Given the description of an element on the screen output the (x, y) to click on. 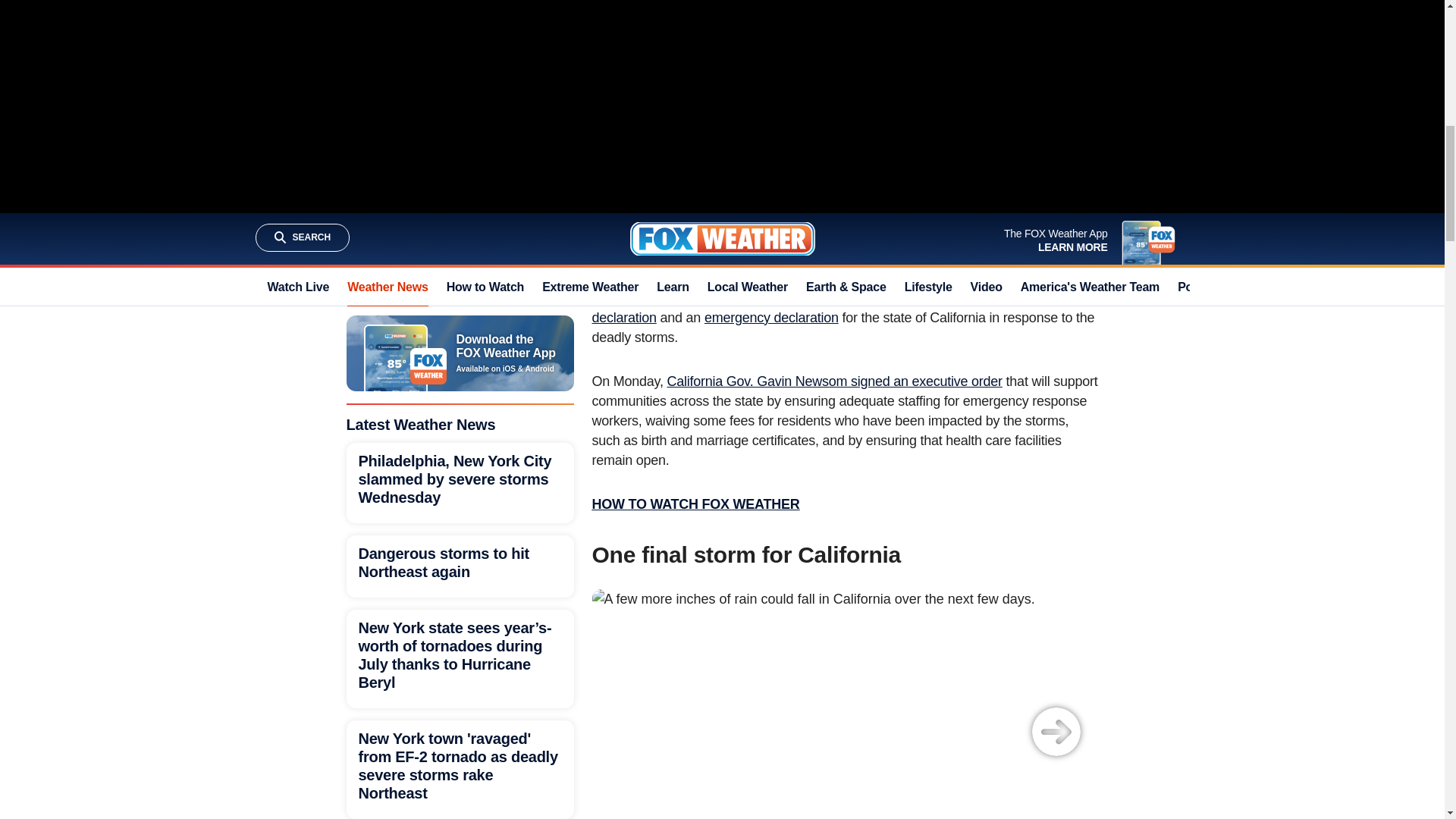
flooding (969, 233)
mudslides (1029, 233)
emergency declaration (771, 317)
major disaster declaration (816, 307)
atmospheric river (657, 214)
California Gov. Gavin Newsom signed an executive order (833, 381)
California (745, 194)
HOW TO WATCH FOX WEATHER (695, 503)
